Given the description of an element on the screen output the (x, y) to click on. 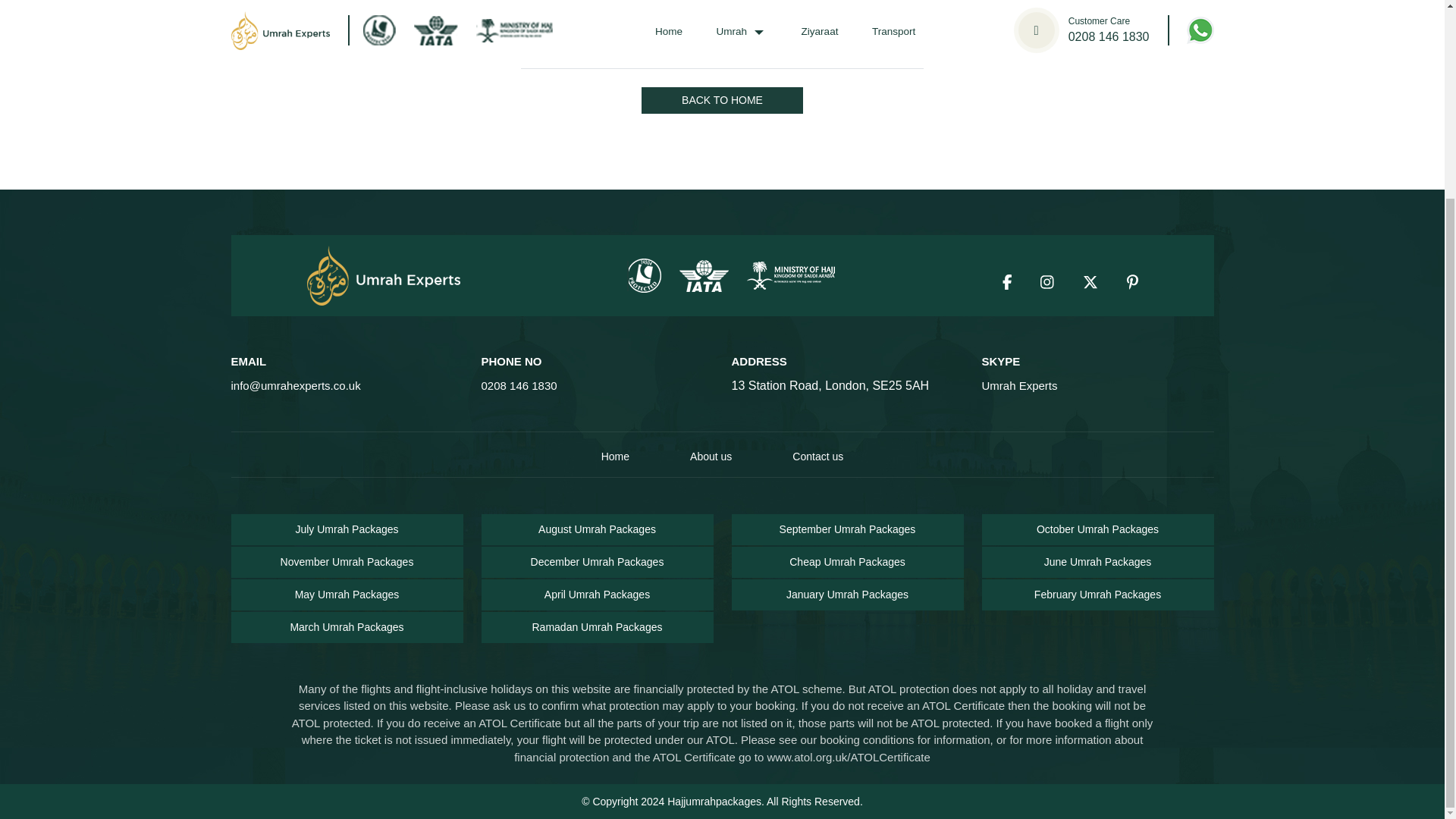
BACK TO HOME (722, 99)
